Given the description of an element on the screen output the (x, y) to click on. 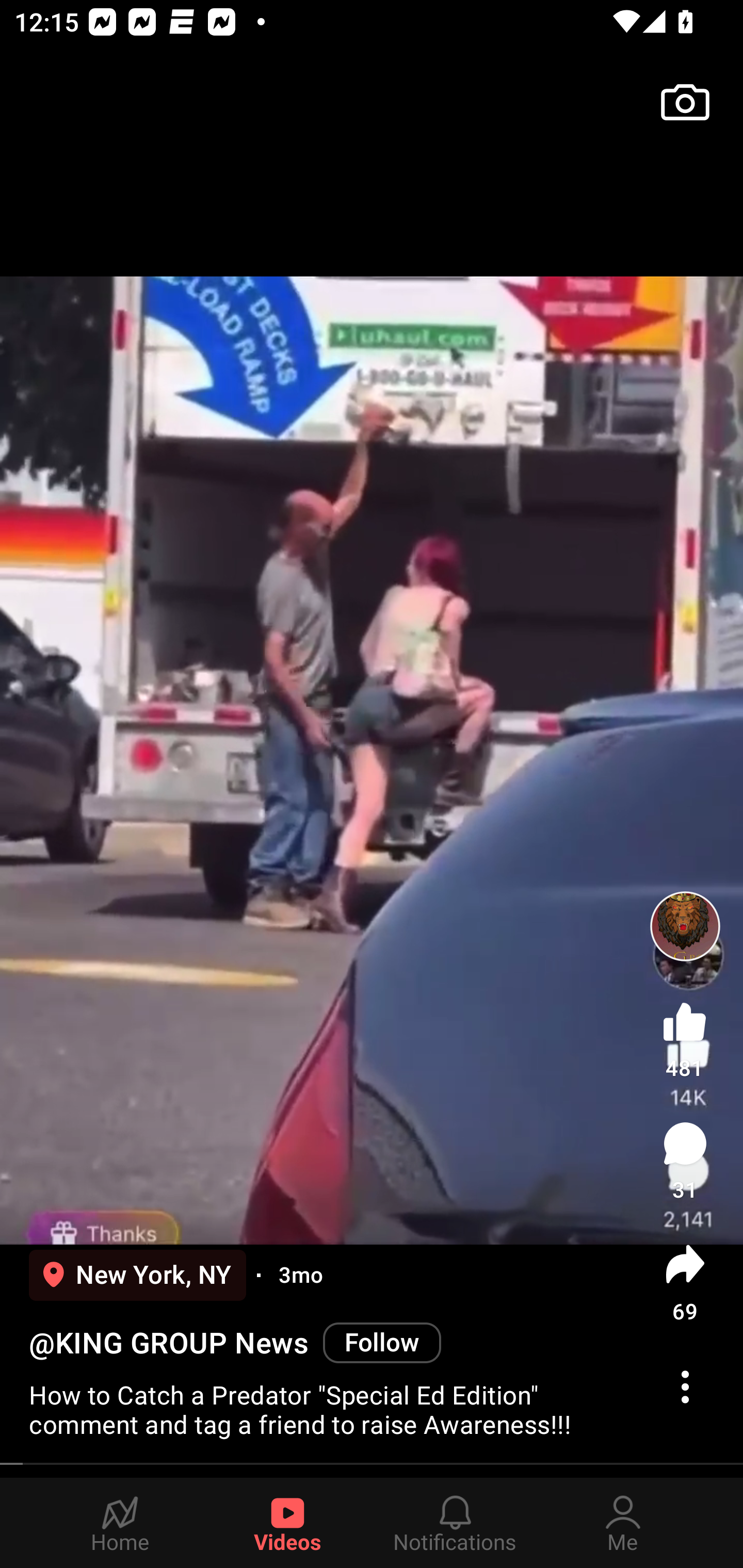
481 (684, 1035)
31 (684, 1160)
69 (684, 1282)
New York, NY (136, 1275)
Follow (382, 1341)
@KING GROUP News (168, 1343)
Home (119, 1522)
Notifications (455, 1522)
Me (622, 1522)
